Given the description of an element on the screen output the (x, y) to click on. 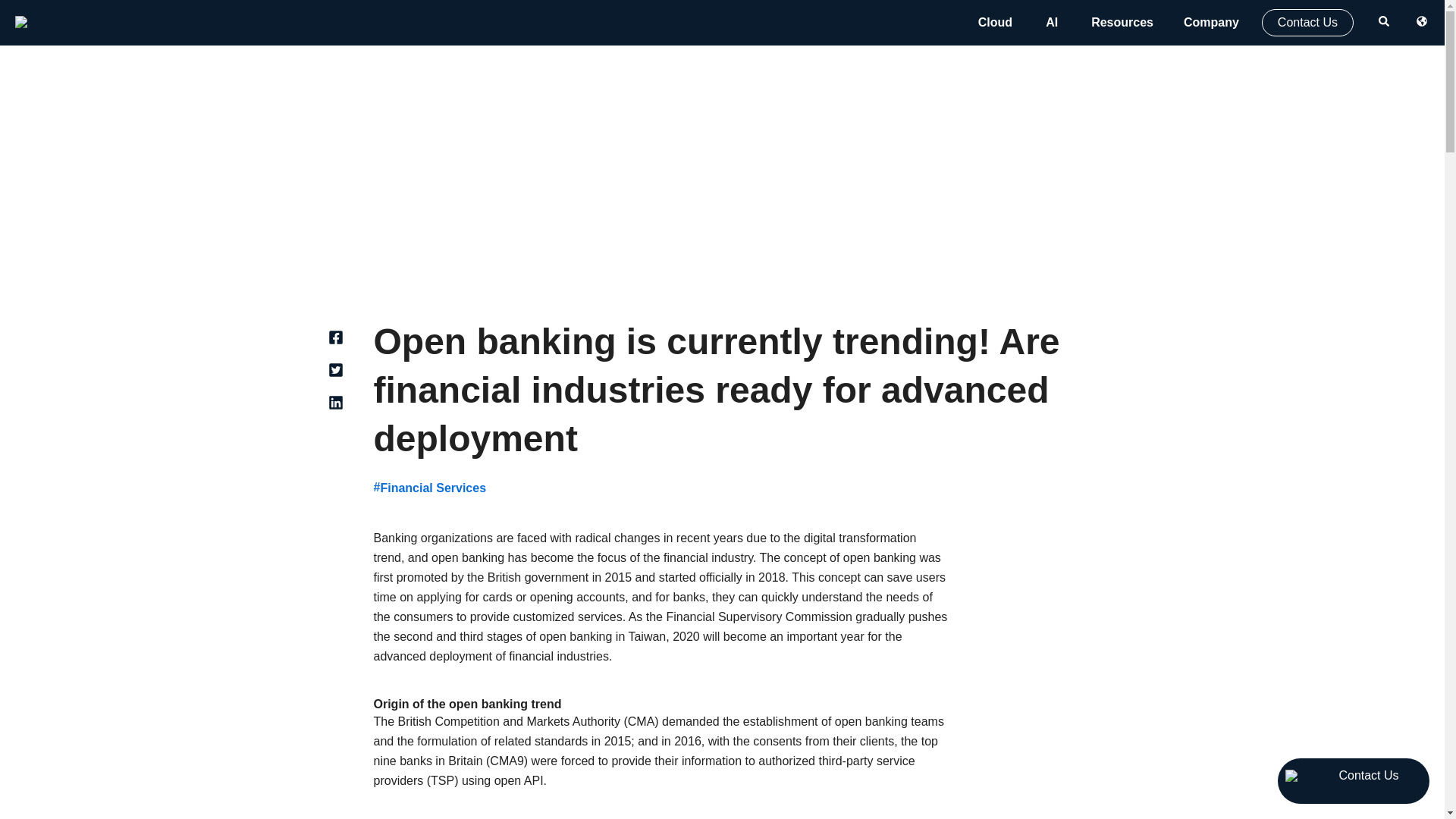
Cloud (994, 22)
AI (1051, 22)
Company (1211, 22)
Contact Us (1308, 22)
Resources (1122, 22)
